Given the description of an element on the screen output the (x, y) to click on. 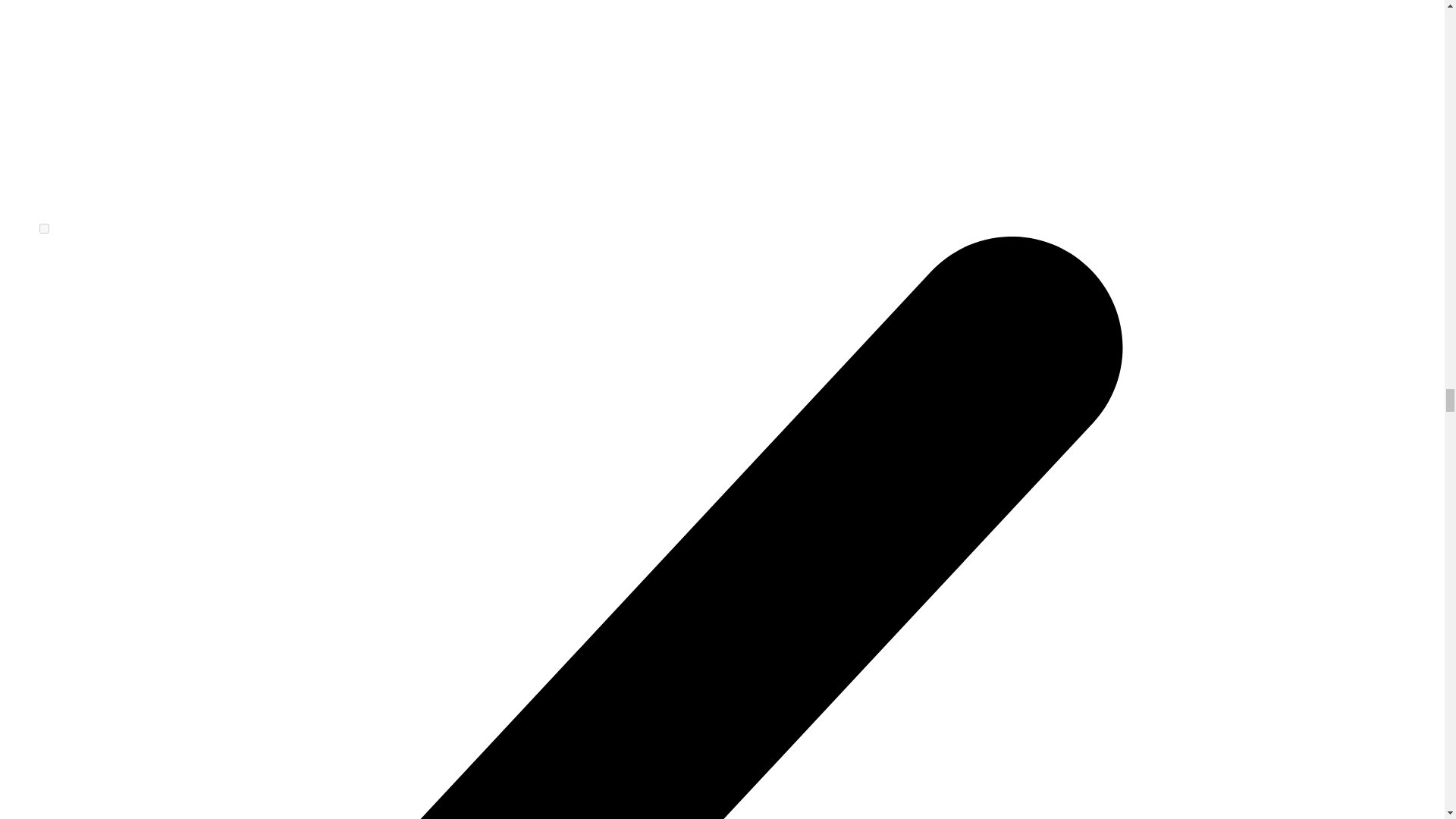
on (44, 228)
